Given the description of an element on the screen output the (x, y) to click on. 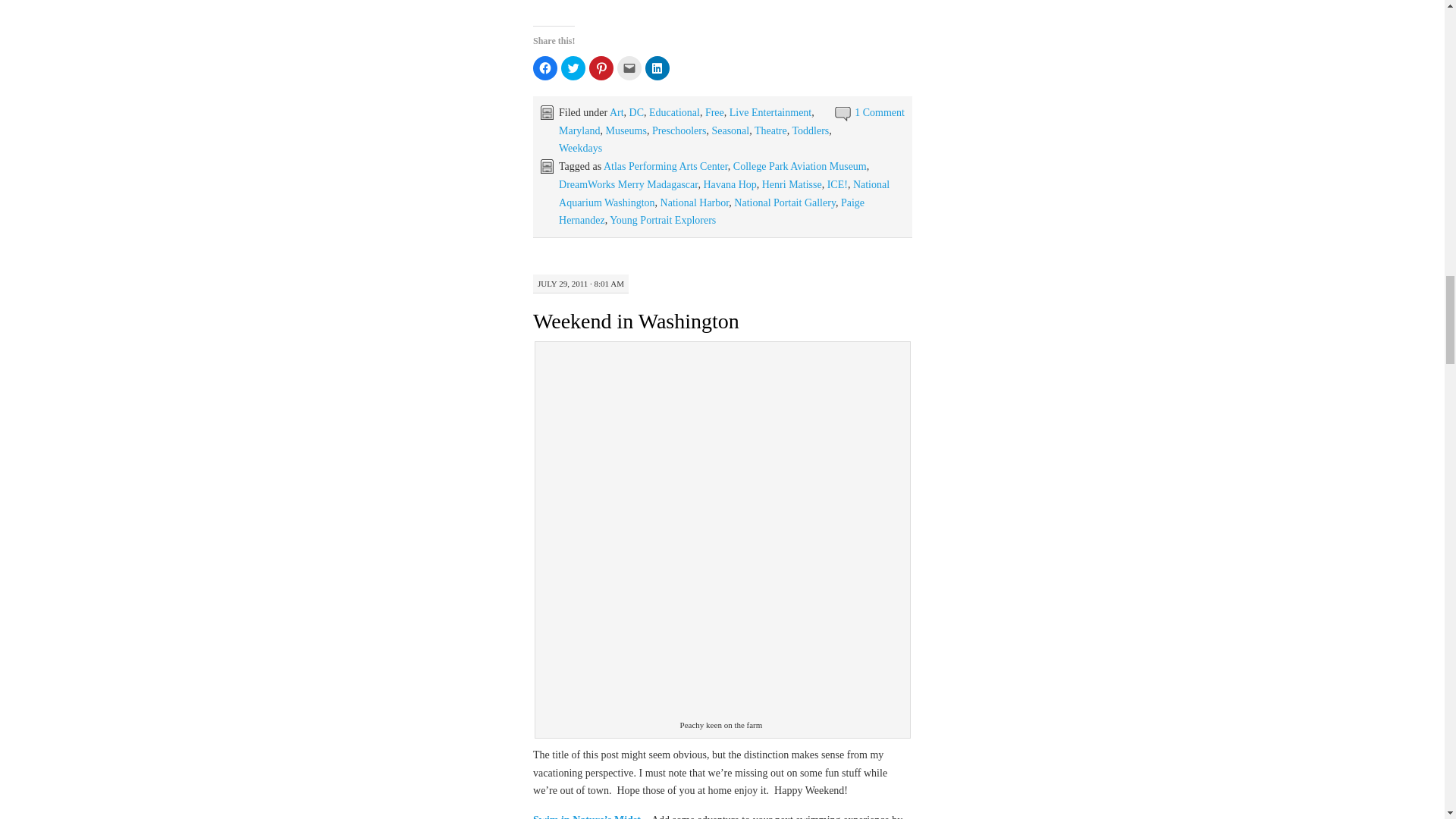
Click to share on Facebook (544, 68)
Click to email this to a friend (629, 68)
Click to share on Pinterest (600, 68)
Click to share on LinkedIn (657, 68)
Click to share on Twitter (572, 68)
